Given the description of an element on the screen output the (x, y) to click on. 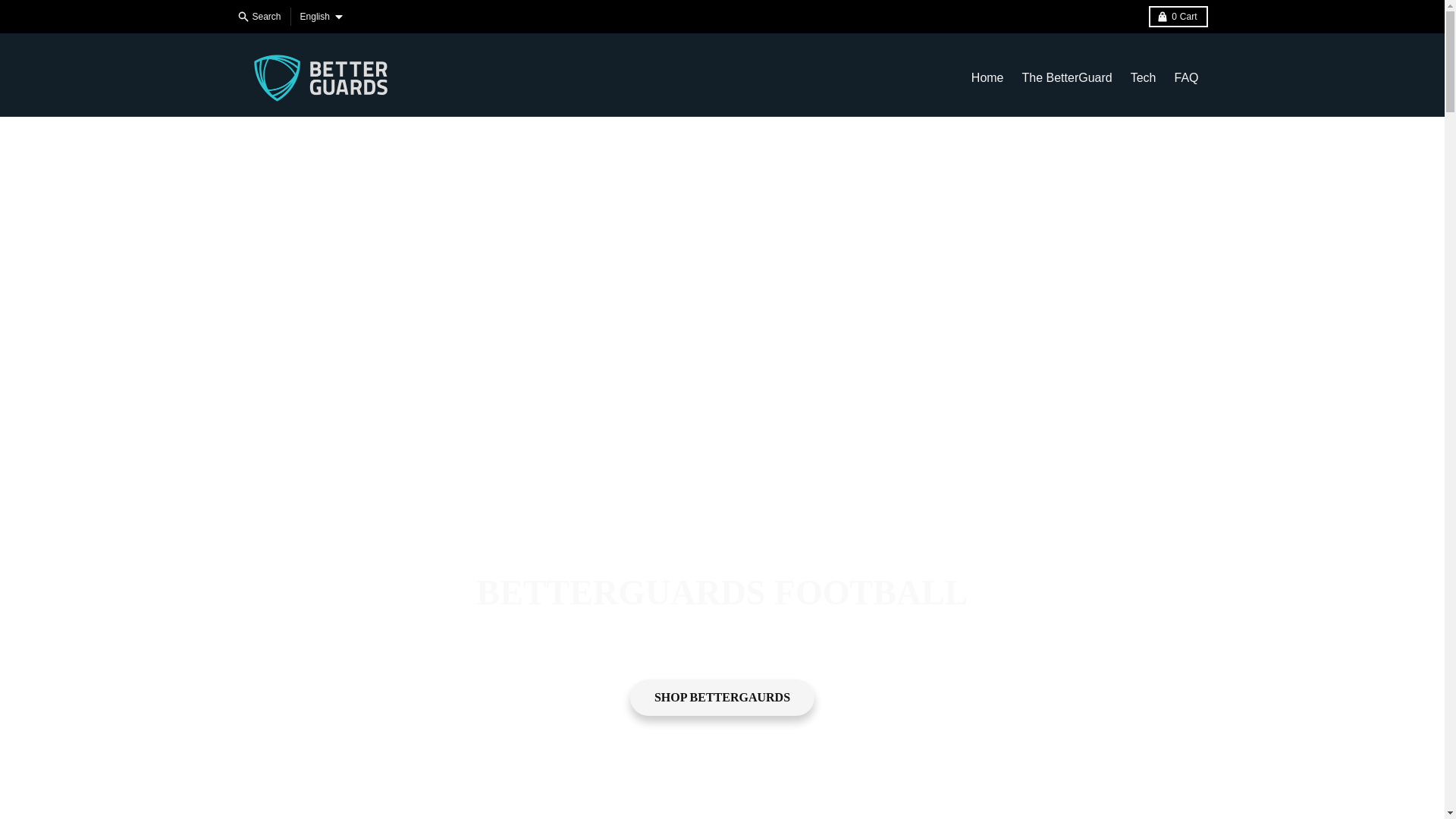
English (320, 16)
Tech (1177, 16)
Search (1143, 78)
SHOP BETTERGAURDS (259, 16)
FAQ (721, 697)
The BetterGuard (1185, 78)
Home (1067, 78)
